Given the description of an element on the screen output the (x, y) to click on. 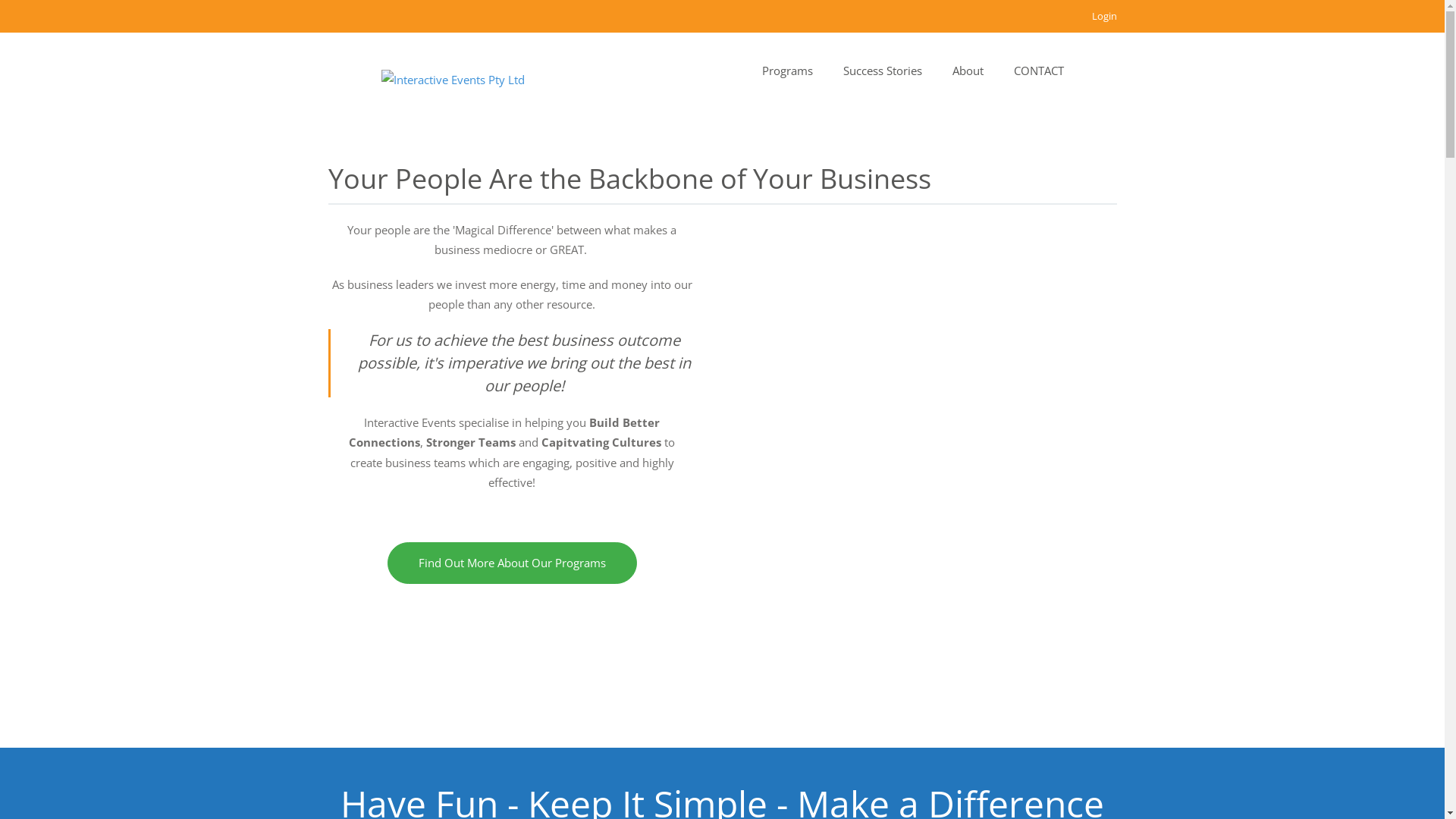
Success Stories Element type: text (882, 70)
Find Out More About Our Programs Element type: text (511, 562)
Interactive Events Pty Ltd Element type: hover (452, 79)
Programs Element type: text (786, 70)
CONTACT Element type: text (1037, 70)
Login Element type: text (1104, 15)
About Element type: text (967, 70)
